Given the description of an element on the screen output the (x, y) to click on. 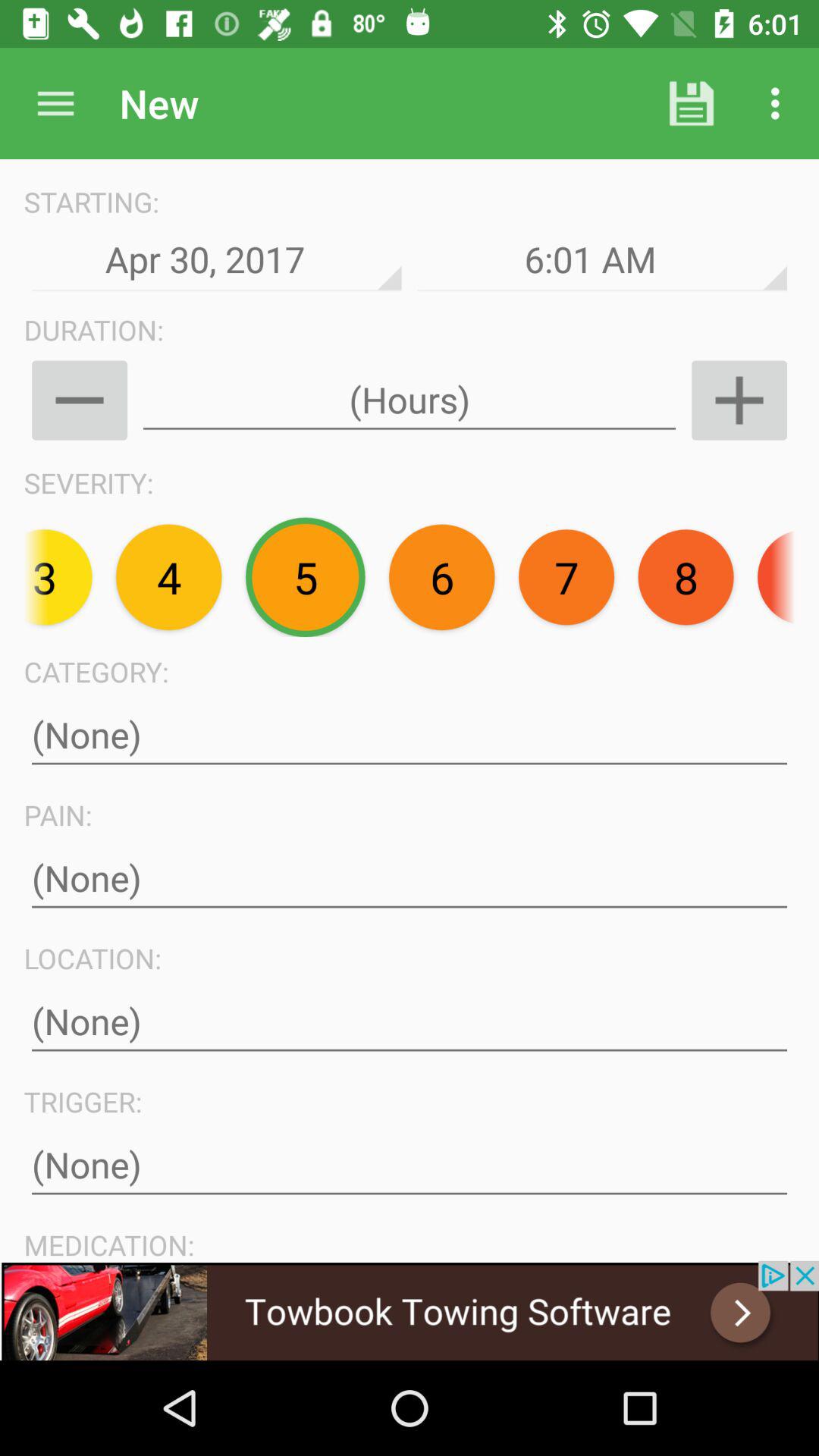
increment hours (739, 400)
